Given the description of an element on the screen output the (x, y) to click on. 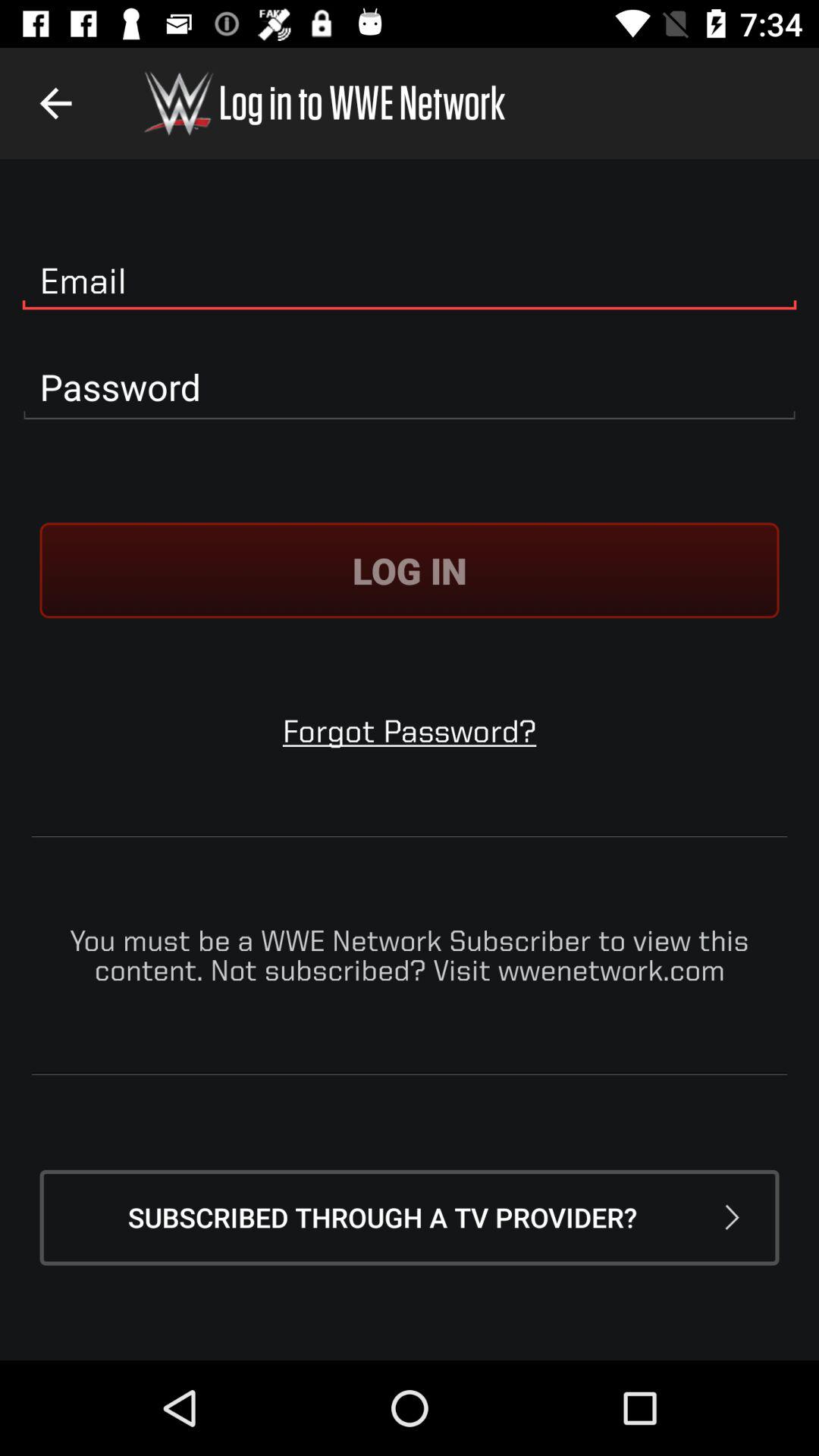
input email address (409, 281)
